Given the description of an element on the screen output the (x, y) to click on. 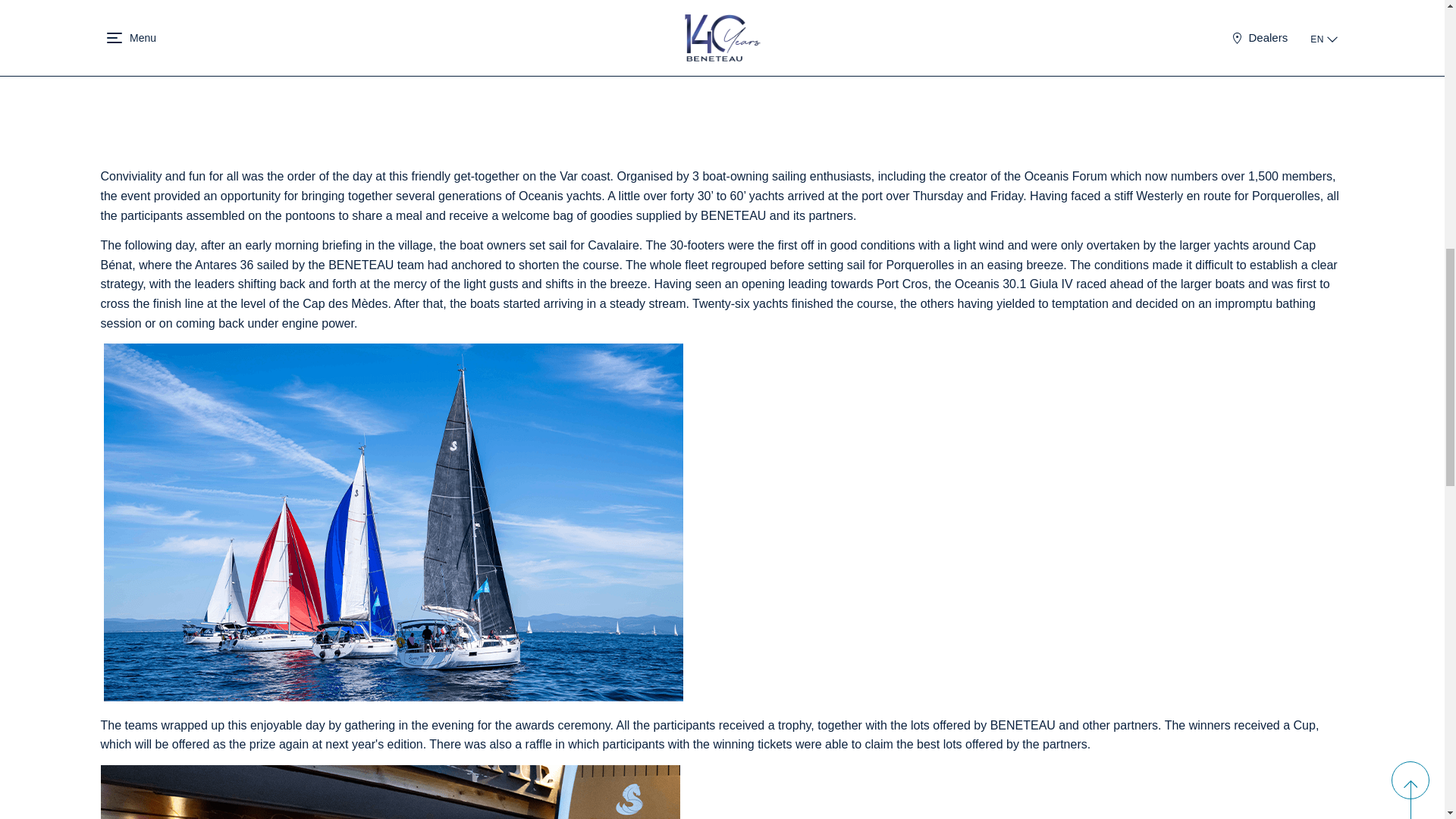
YouTube video player (389, 75)
